Given the description of an element on the screen output the (x, y) to click on. 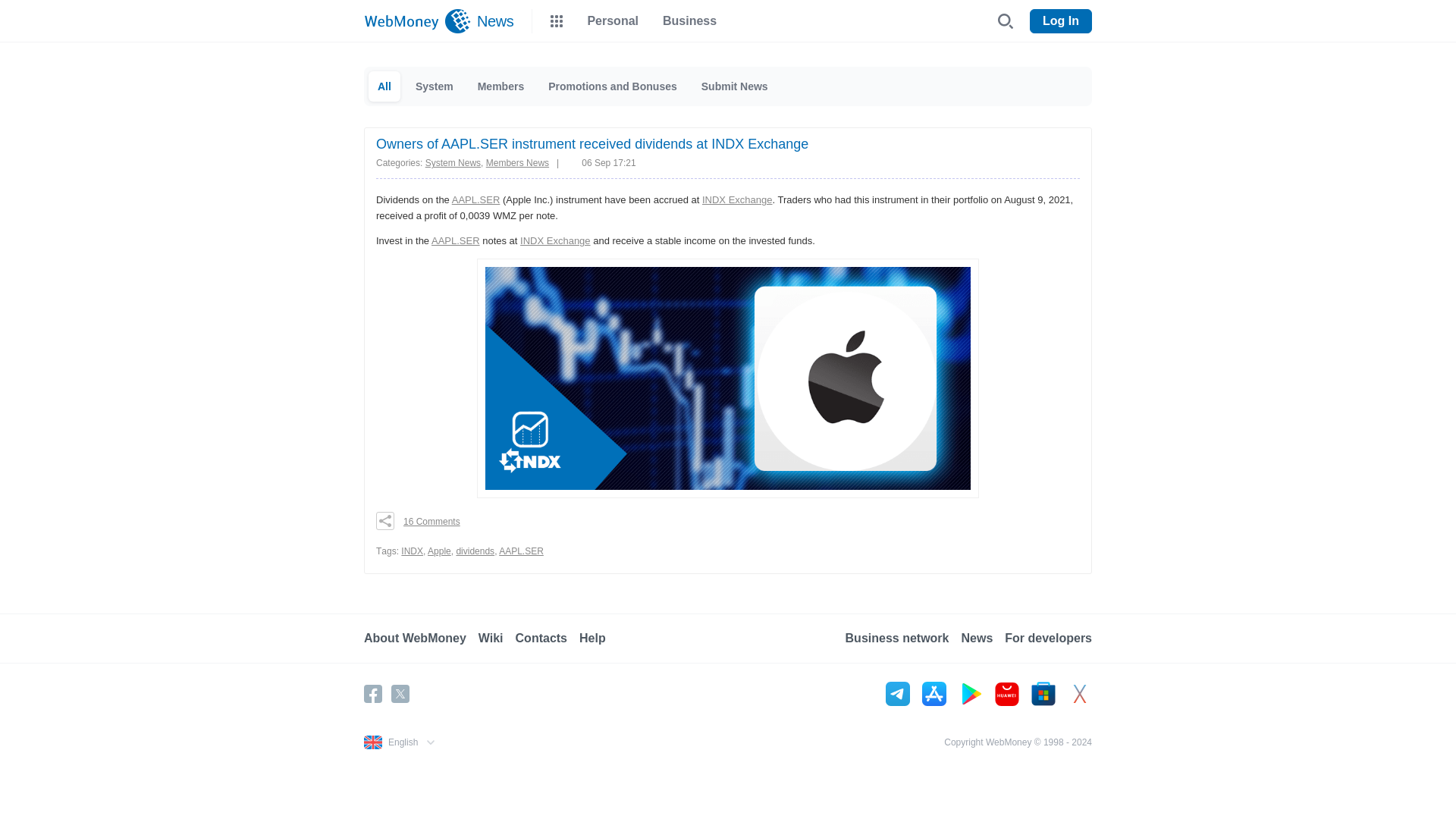
0 (426, 520)
News (491, 21)
Apple (439, 551)
About WebMoney (421, 638)
Promotions and Bonuses (611, 86)
Contacts (547, 638)
AAPL.SER (475, 199)
AAPL.SER (521, 551)
INDX (412, 551)
Wiki (497, 638)
